Given the description of an element on the screen output the (x, y) to click on. 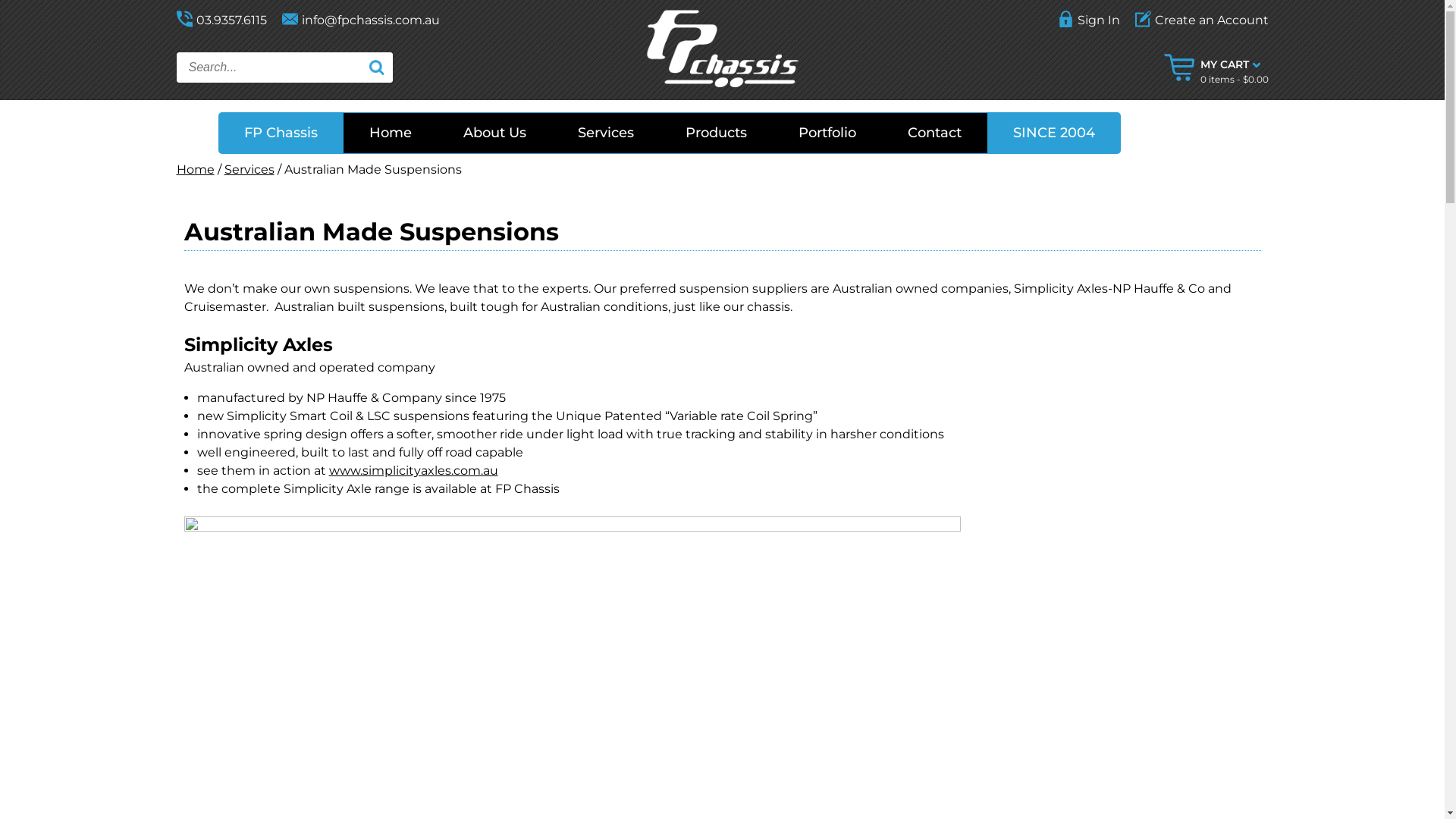
www.simplicityaxles.com.au Element type: text (413, 470)
SINCE 2004 Element type: text (1053, 132)
FP Chassis Element type: text (280, 132)
Create an Account Element type: text (1196, 19)
About Us Element type: text (494, 132)
Services Element type: text (605, 132)
Portfolio Element type: text (826, 132)
Products Element type: text (715, 132)
info@fpchassis.com.au Element type: text (360, 19)
03.9357.6115 Element type: text (224, 19)
0 items - $0.00 Element type: text (1233, 78)
Sign In Element type: text (1087, 19)
Services Element type: text (249, 169)
Contact Element type: text (934, 132)
Search for: Element type: hover (283, 67)
Home Element type: text (194, 169)
Home Element type: text (390, 132)
Search Element type: text (375, 67)
